Given the description of an element on the screen output the (x, y) to click on. 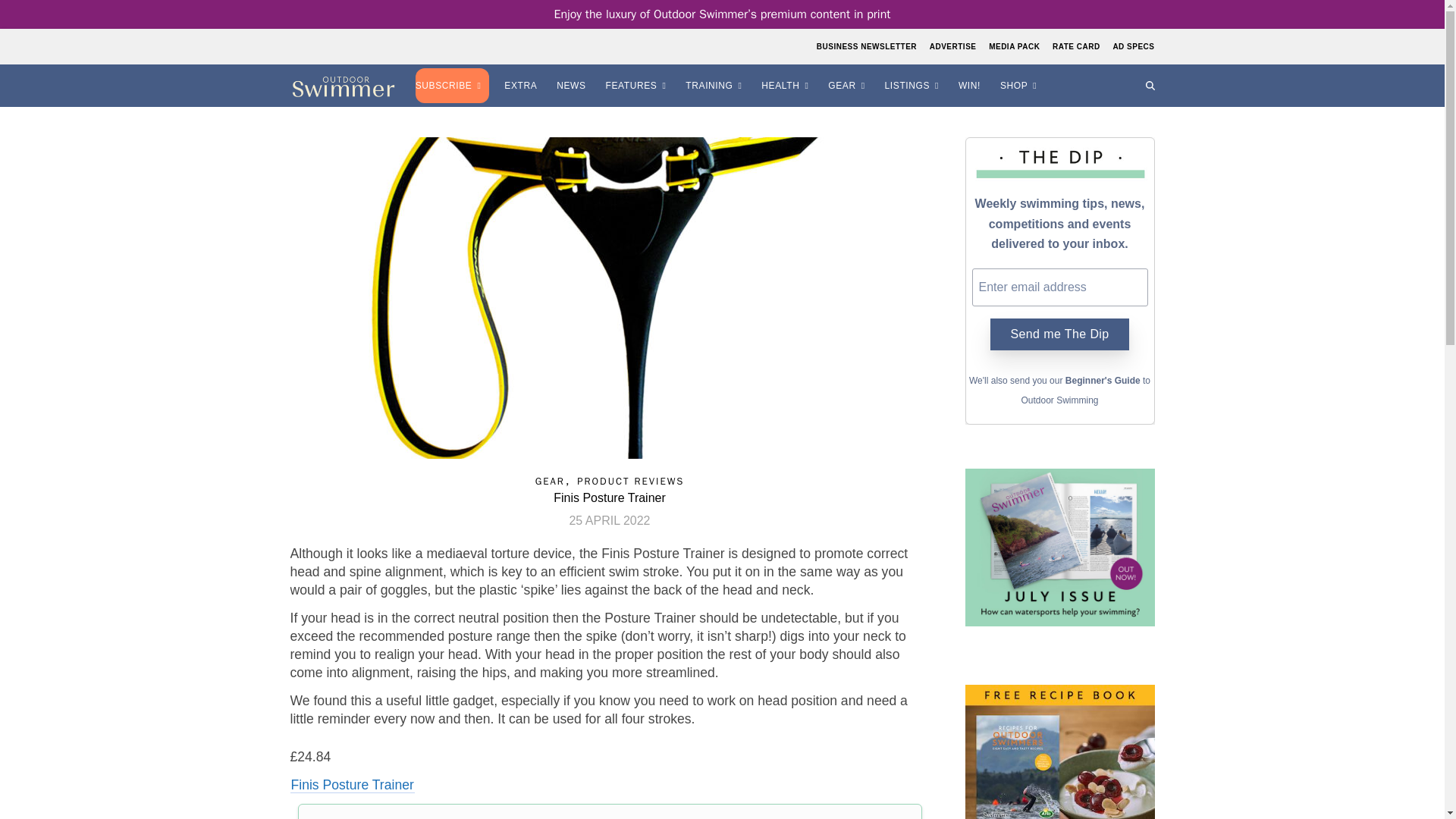
TRAINING (716, 85)
Outdoor Swimmer Magazine (342, 85)
RATE CARD (1075, 46)
FEATURES (638, 85)
NEWS (572, 85)
AD SPECS (1131, 46)
ADVERTISE (952, 46)
Send me The Dip (1059, 334)
EXTRA (522, 85)
SUBSCRIBE (453, 85)
Enter email address (1060, 287)
BUSINESS NEWSLETTER (868, 46)
MEDIA PACK (1014, 46)
